Given the description of an element on the screen output the (x, y) to click on. 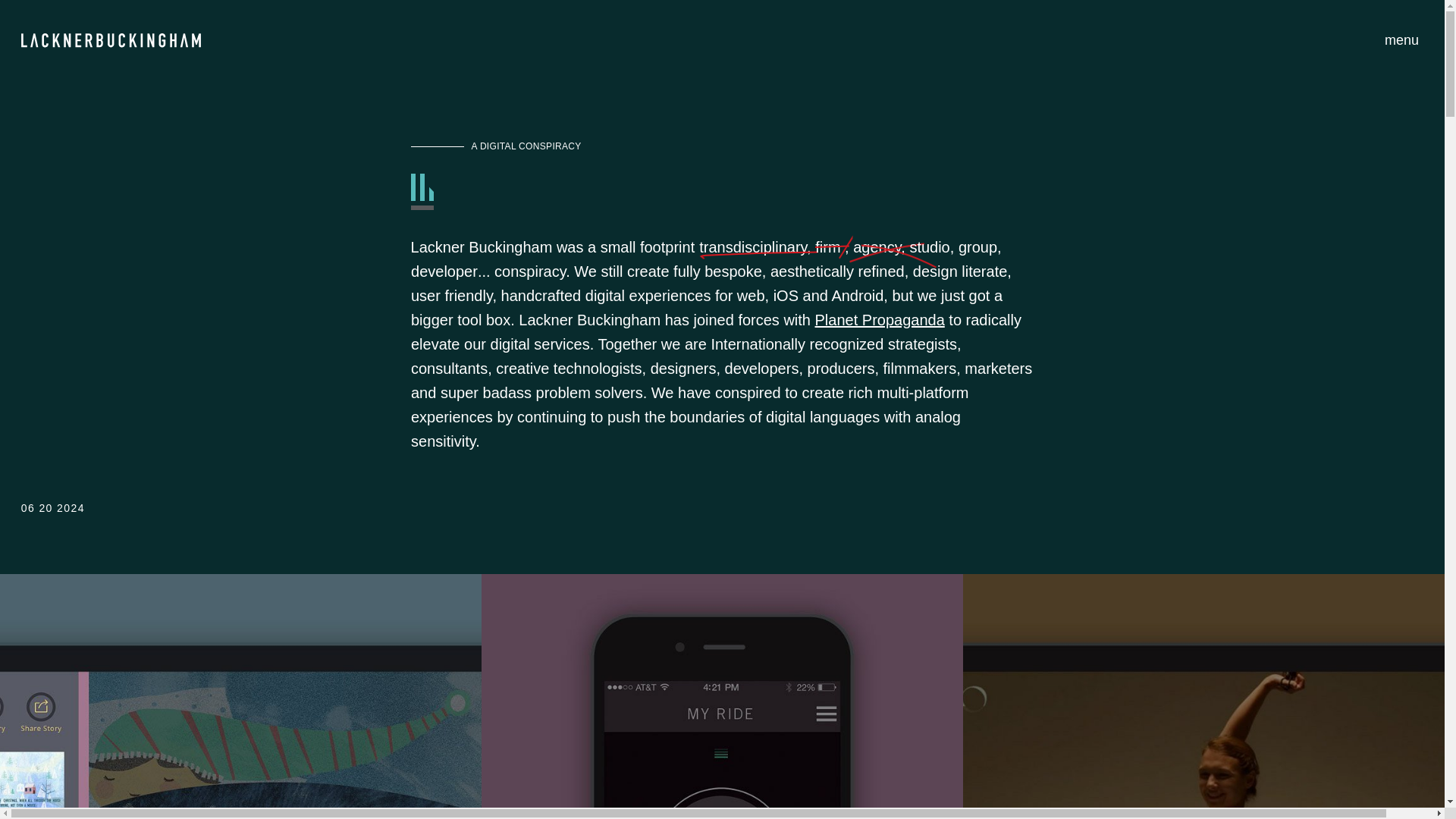
menu (1401, 40)
Planet Propaganda (875, 320)
